Given the description of an element on the screen output the (x, y) to click on. 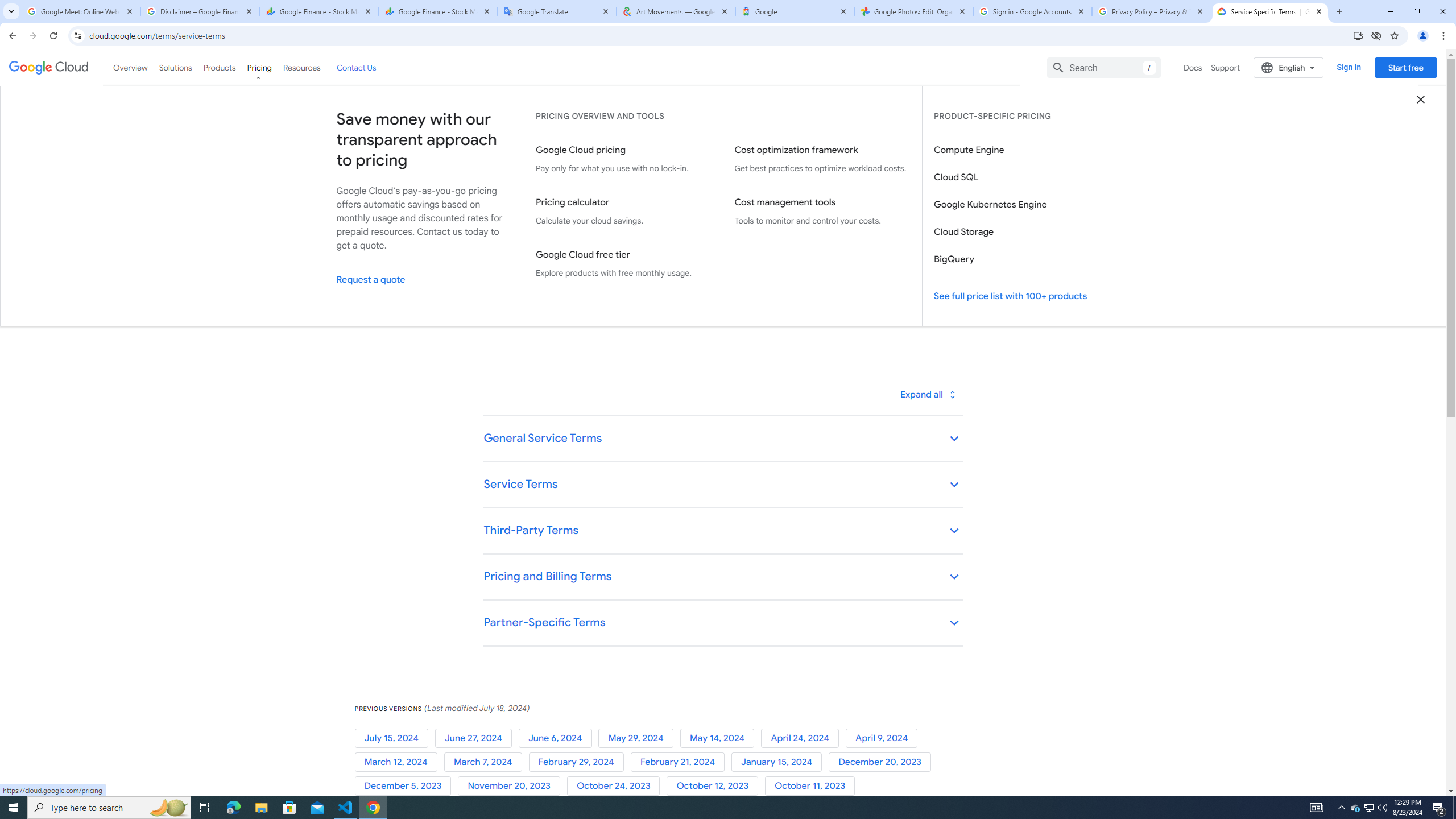
Partner-Specific Terms keyboard_arrow_down (722, 623)
Cloud Storage (1021, 232)
Back to Google Cloud Terms Directory (544, 128)
Compute Engine (1021, 150)
Pricing (259, 67)
February 21, 2024 (680, 761)
See full price list with 100+ products (1021, 296)
December 20, 2023 (882, 761)
Install Google Cloud (1358, 35)
Resources (301, 67)
Google Kubernetes Engine (1021, 204)
